Given the description of an element on the screen output the (x, y) to click on. 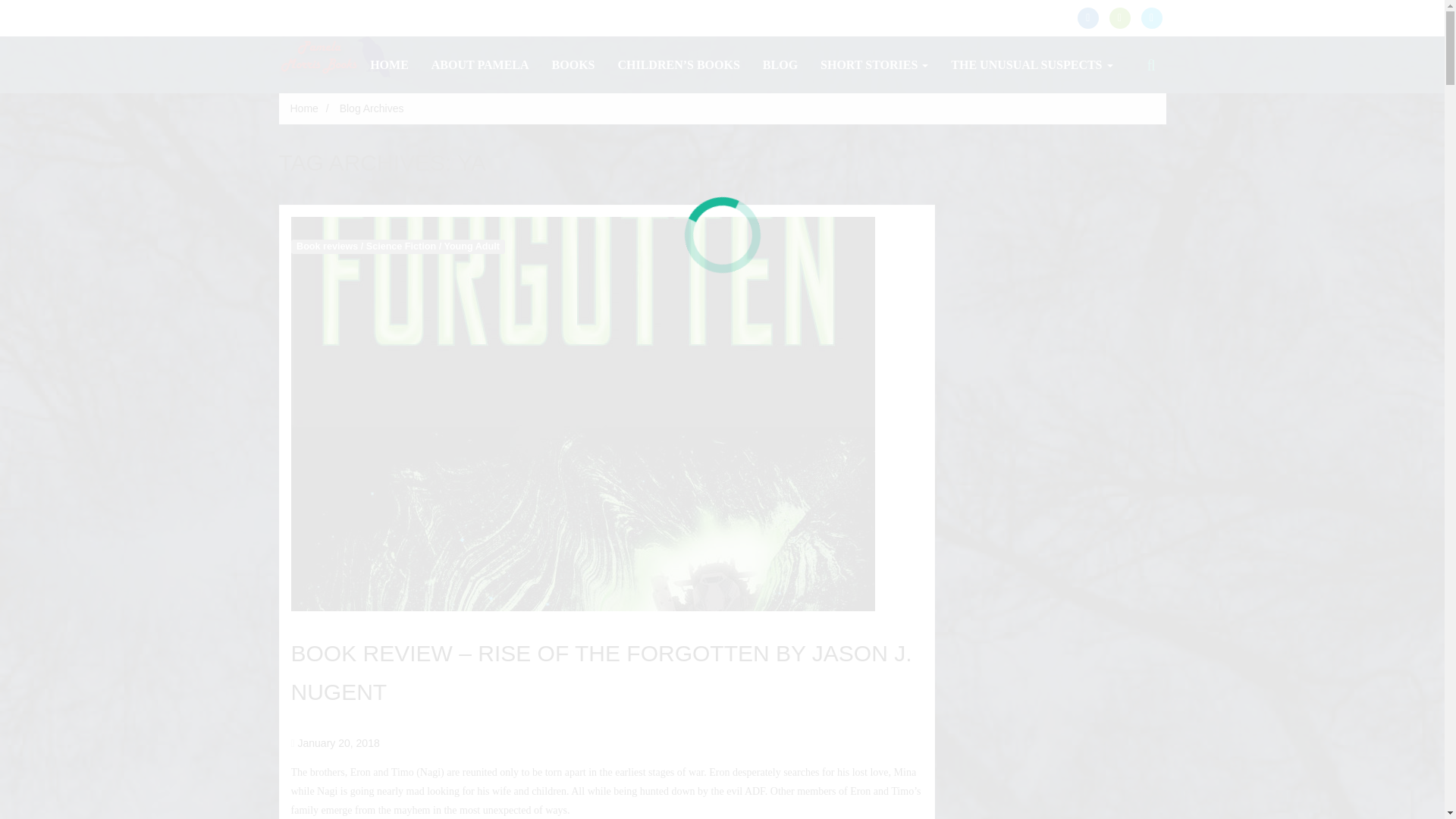
Short Stories (874, 64)
The Unusual Suspects (1031, 64)
Home (303, 108)
HOME (389, 64)
THE UNUSUAL SUSPECTS (1031, 64)
Books (573, 64)
BLOG (780, 64)
Home (389, 64)
Pamela Morris (336, 56)
Blog (780, 64)
Young Adult (471, 245)
Book reviews (327, 245)
Science Fiction (400, 245)
SHORT STORIES (874, 64)
Children's Books (678, 64)
